Given the description of an element on the screen output the (x, y) to click on. 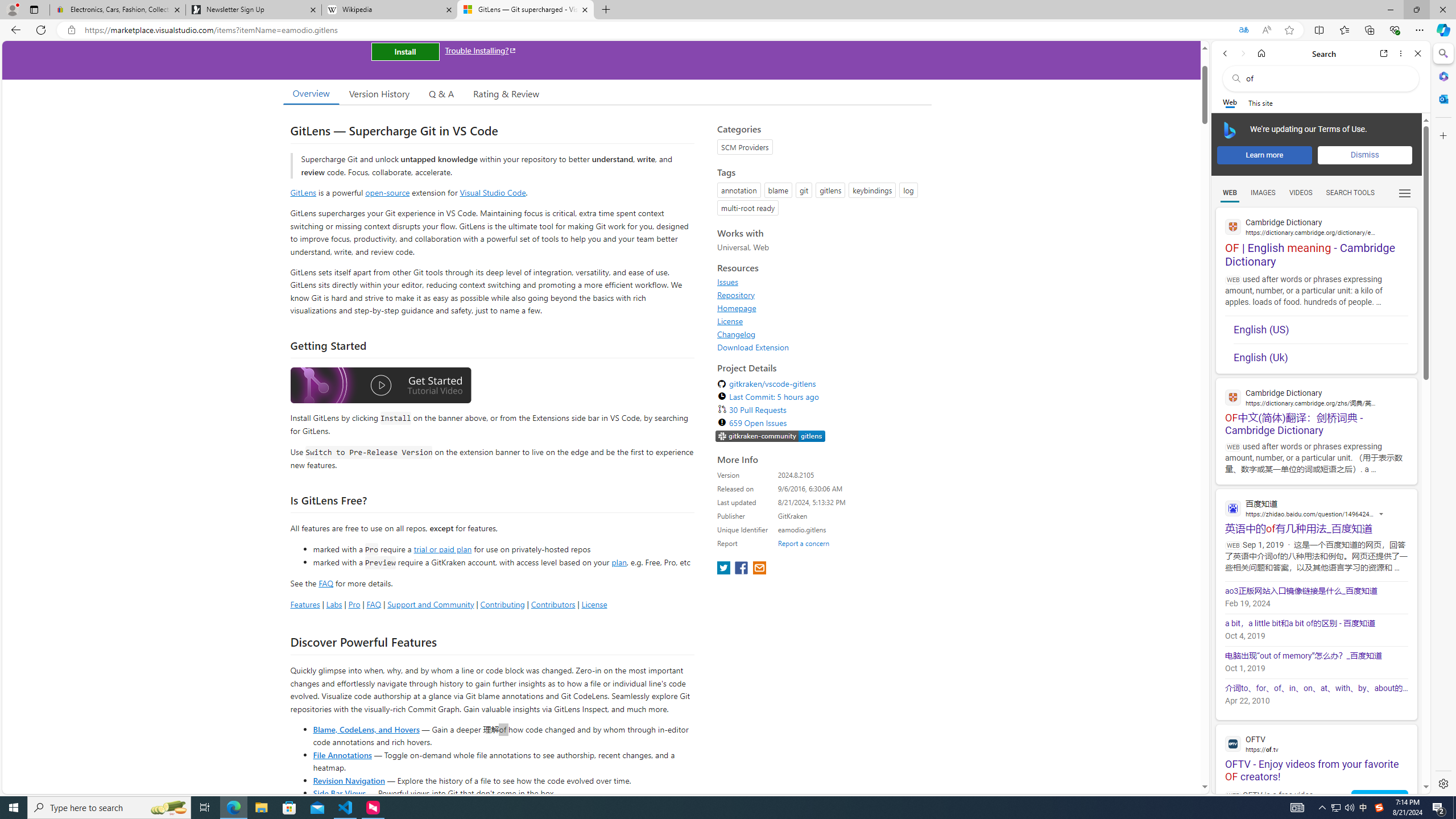
Overview (310, 92)
Contributing (502, 603)
https://slack.gitkraken.com// (769, 436)
OFTV (1315, 743)
Issues (820, 281)
Forward (1242, 53)
trial or paid plan (442, 548)
Search Filter, IMAGES (1262, 192)
Install (405, 51)
